Given the description of an element on the screen output the (x, y) to click on. 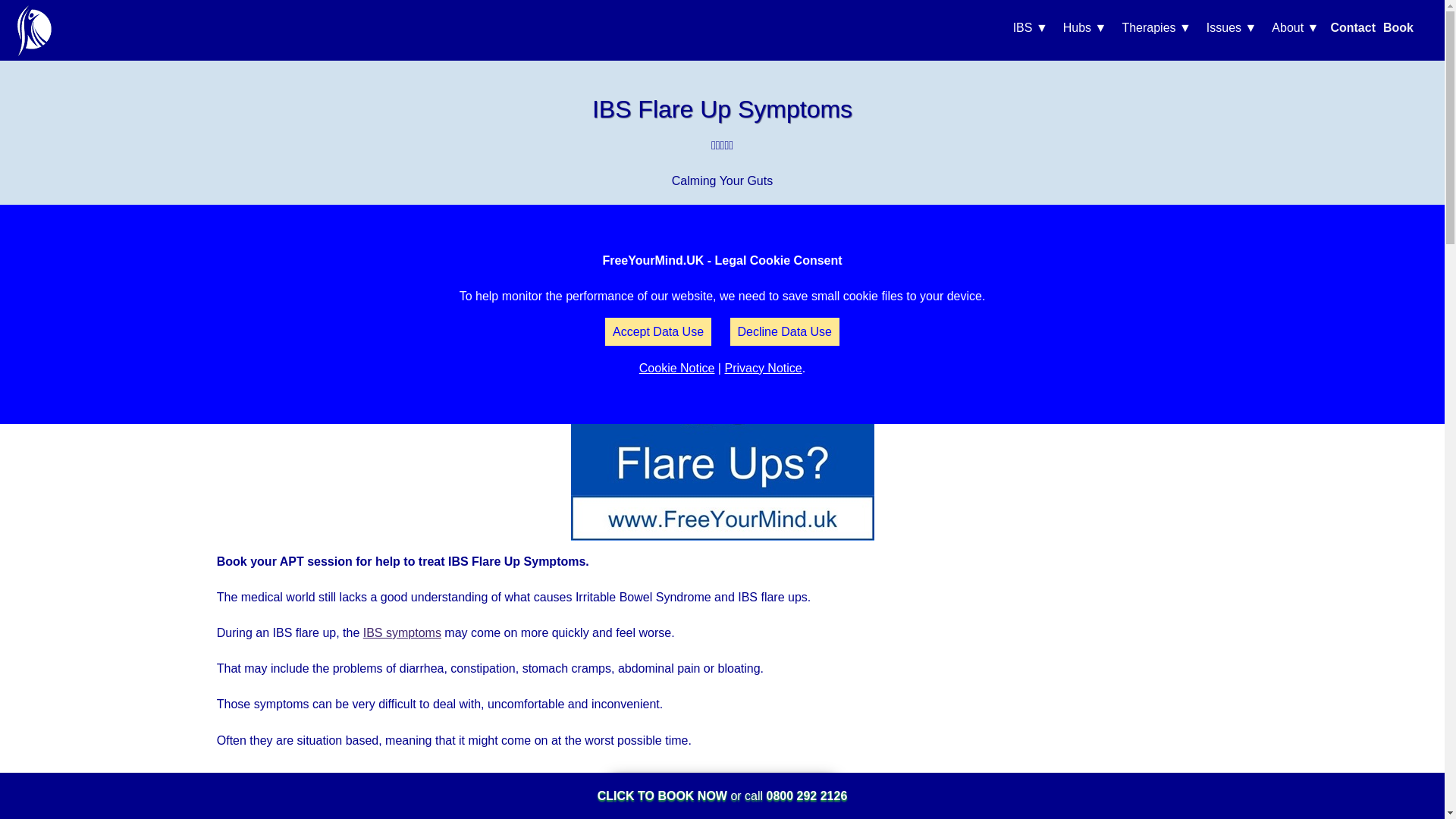
Accept Data Use (658, 331)
IBS Flare Up (721, 426)
Privacy Notice (762, 367)
Decline Data Use (784, 331)
Cookie Notice (676, 367)
